Given the description of an element on the screen output the (x, y) to click on. 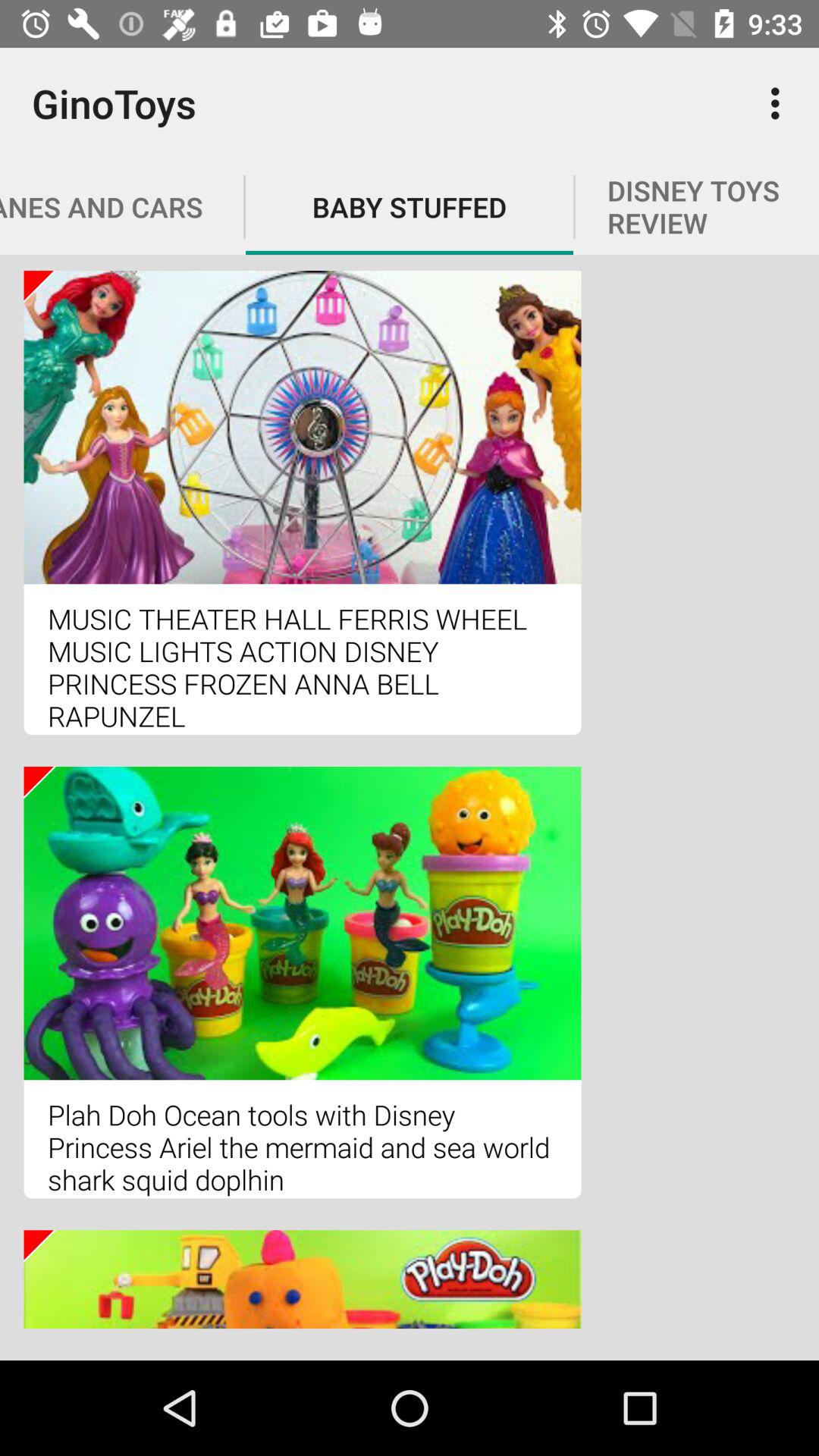
turn off the icon next to baby stuffed icon (779, 103)
